Given the description of an element on the screen output the (x, y) to click on. 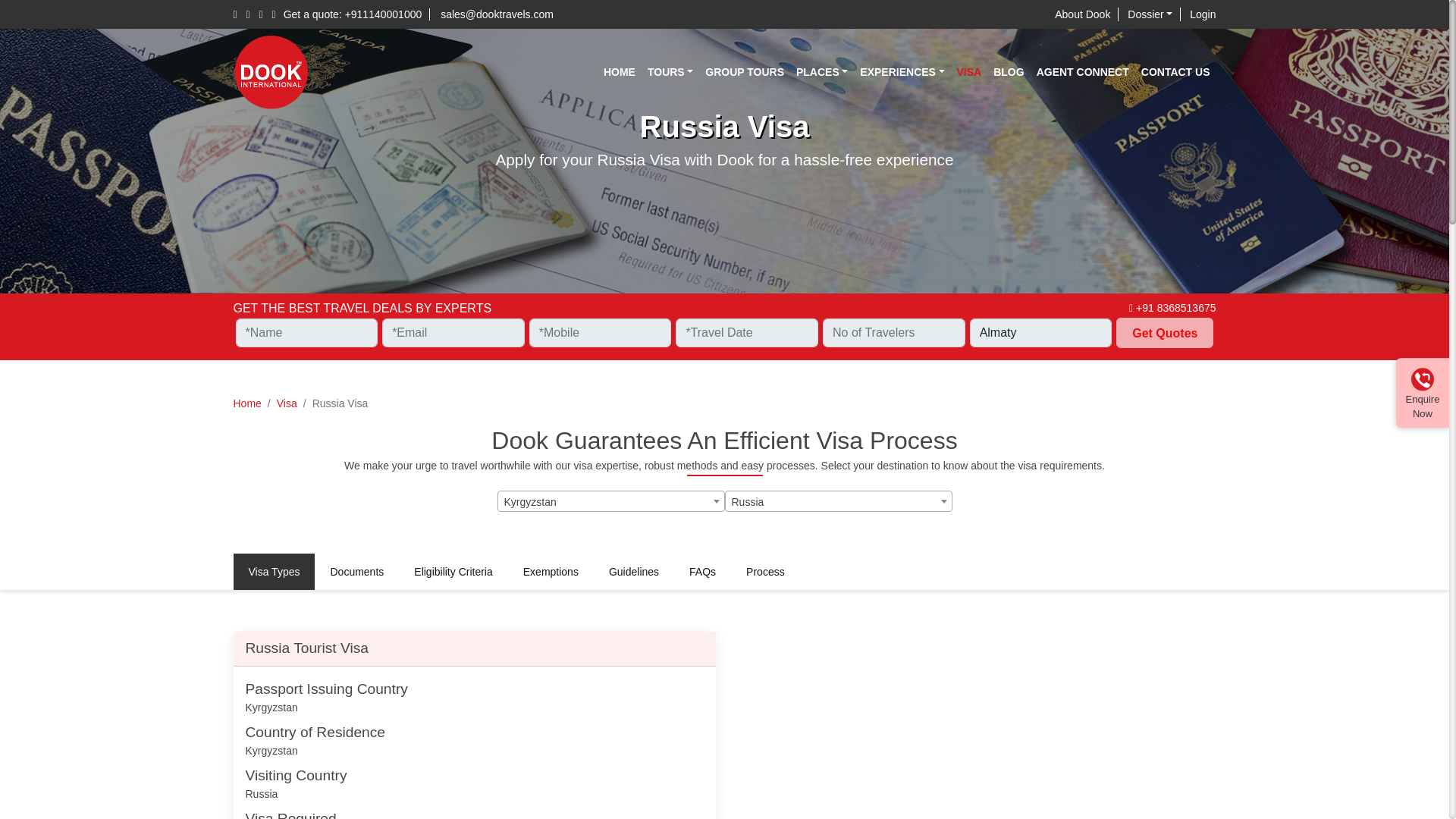
Login (1202, 14)
GROUP TOURS (744, 71)
Russia (837, 501)
About Dook (1086, 14)
HOME (619, 71)
TOURS (670, 71)
PLACES (821, 71)
Dossier (1152, 14)
Kyrgyzstan (610, 501)
